Given the description of an element on the screen output the (x, y) to click on. 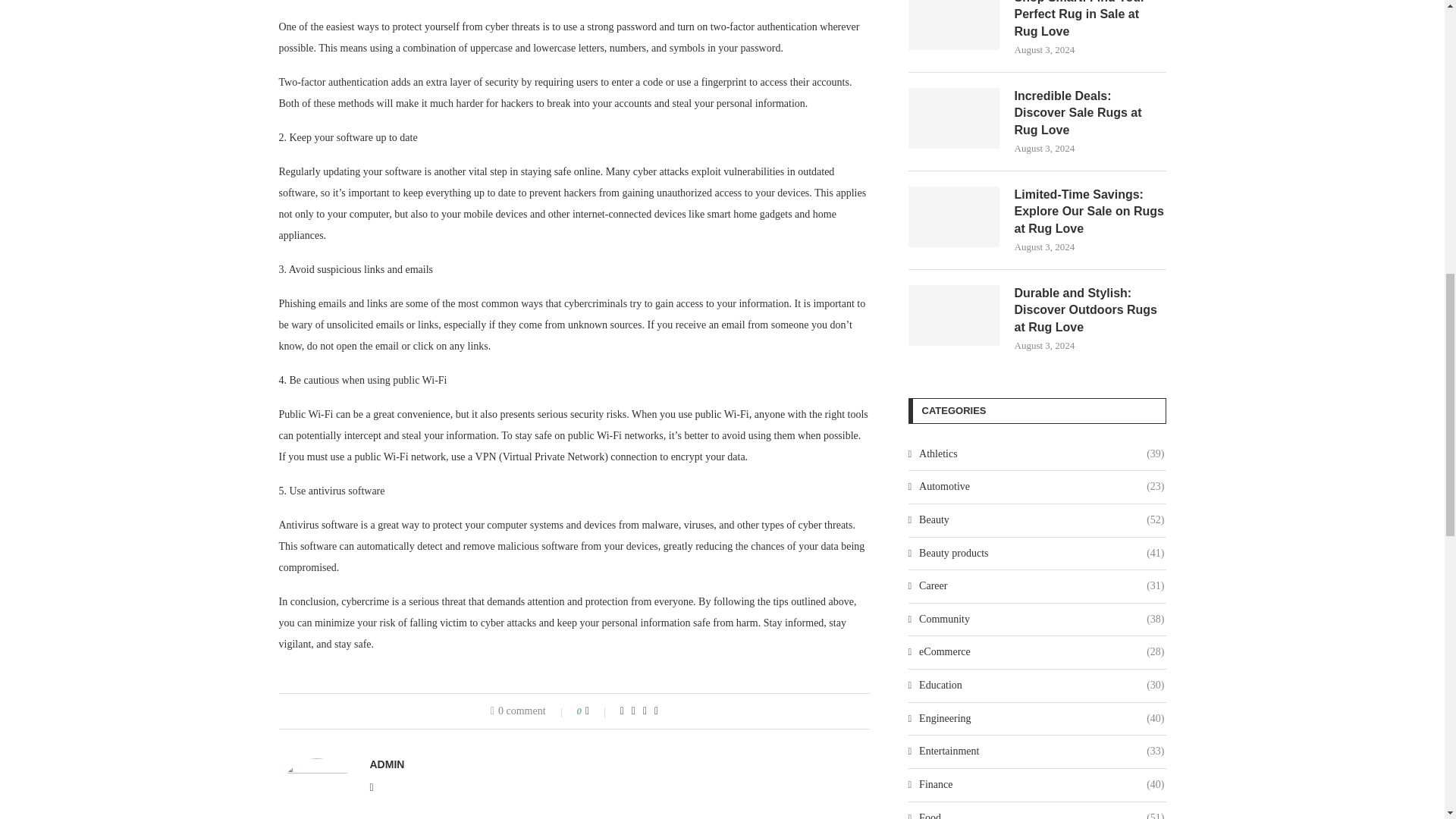
ADMIN (386, 764)
Like (597, 711)
Shop Smart: Find Your Perfect Rug in Sale at Rug Love (953, 24)
Incredible Deals: Discover Sale Rugs at Rug Love (953, 117)
Author admin (386, 764)
Shop Smart: Find Your Perfect Rug in Sale at Rug Love (1090, 20)
Incredible Deals: Discover Sale Rugs at Rug Love (1090, 112)
